Given the description of an element on the screen output the (x, y) to click on. 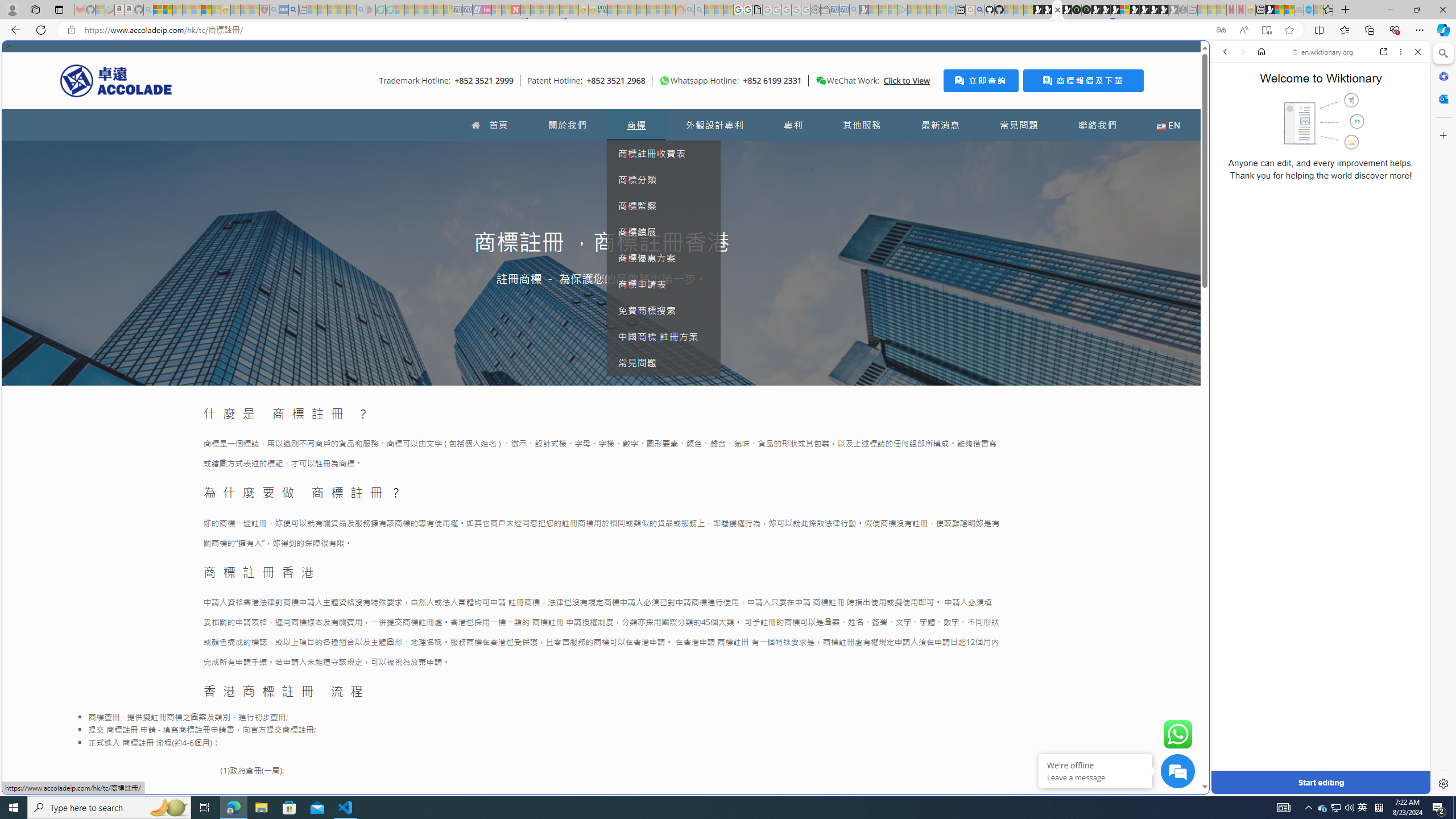
Class: desktop (821, 80)
Navy Quest (1299, 9)
